Given the description of an element on the screen output the (x, y) to click on. 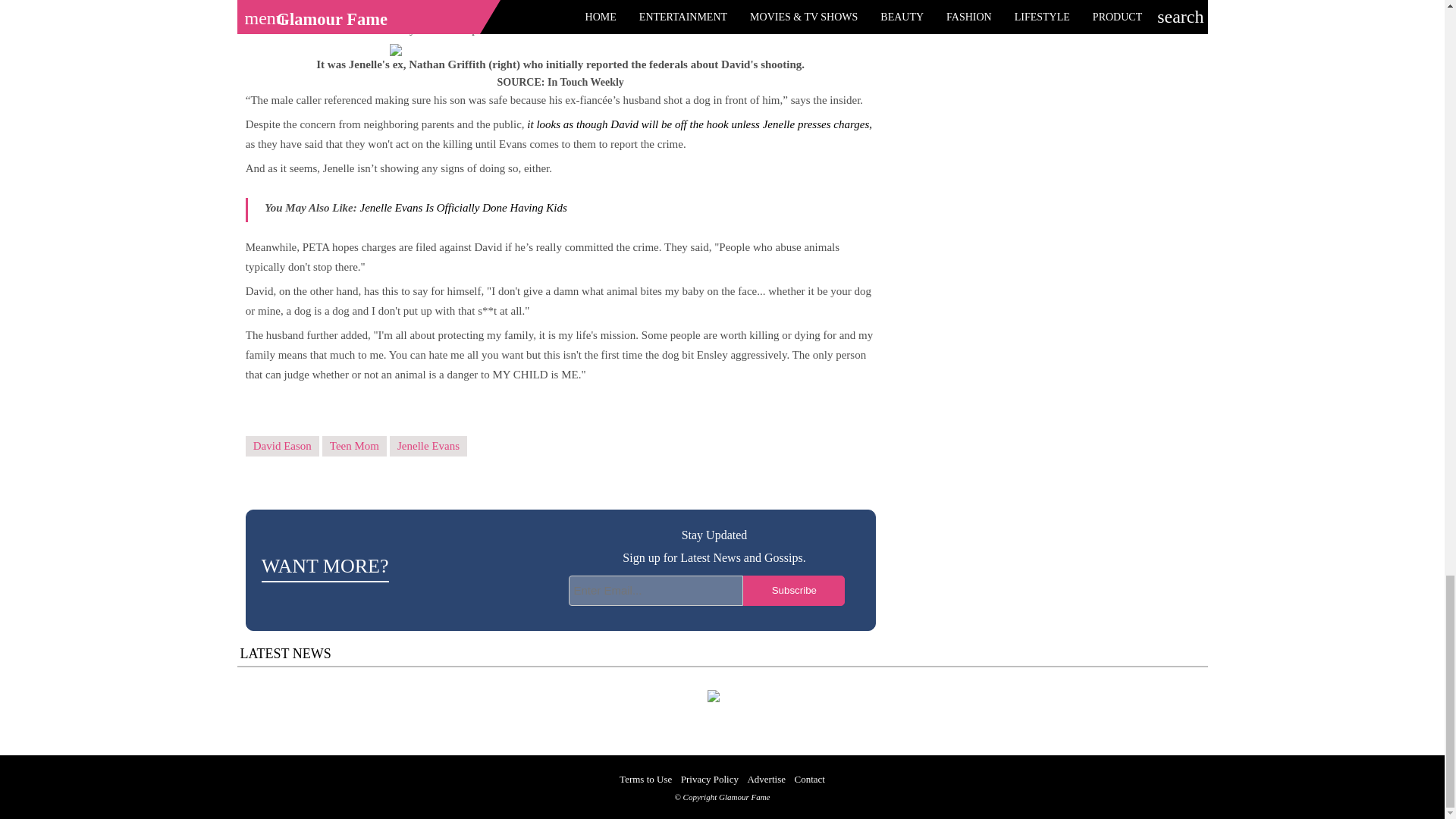
Teen Mom (354, 445)
David Eason (282, 445)
Jenelle Evans Is Officially Done Having Kids (463, 207)
Jenelle Evans (428, 445)
